Given the description of an element on the screen output the (x, y) to click on. 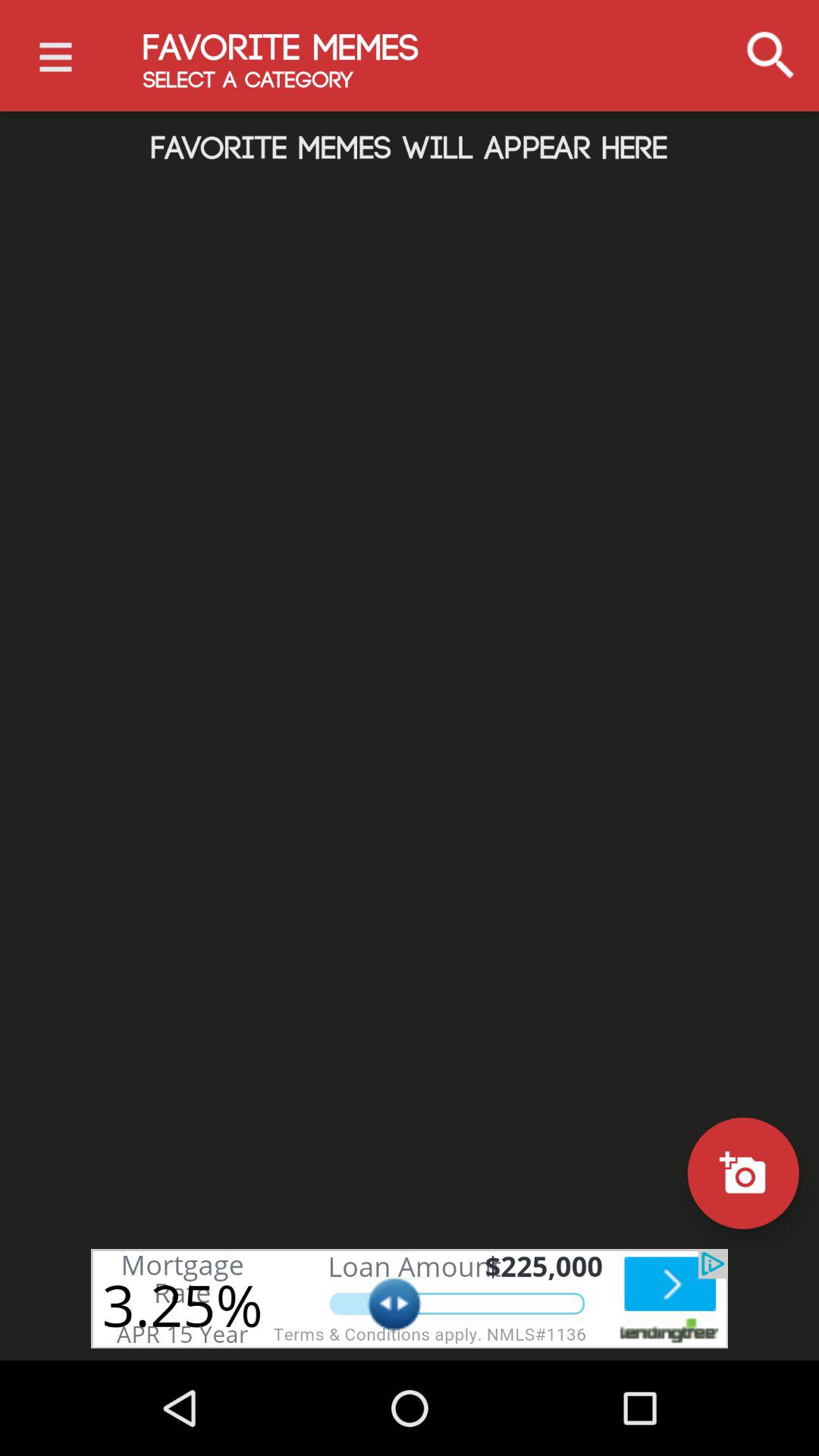
camera option (743, 1173)
